Given the description of an element on the screen output the (x, y) to click on. 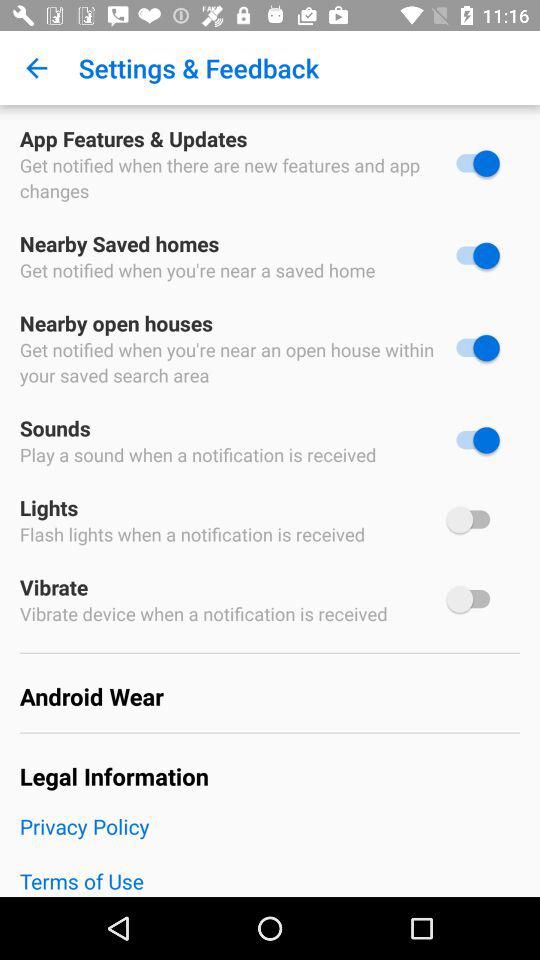
digital on/off switch (473, 255)
